Given the description of an element on the screen output the (x, y) to click on. 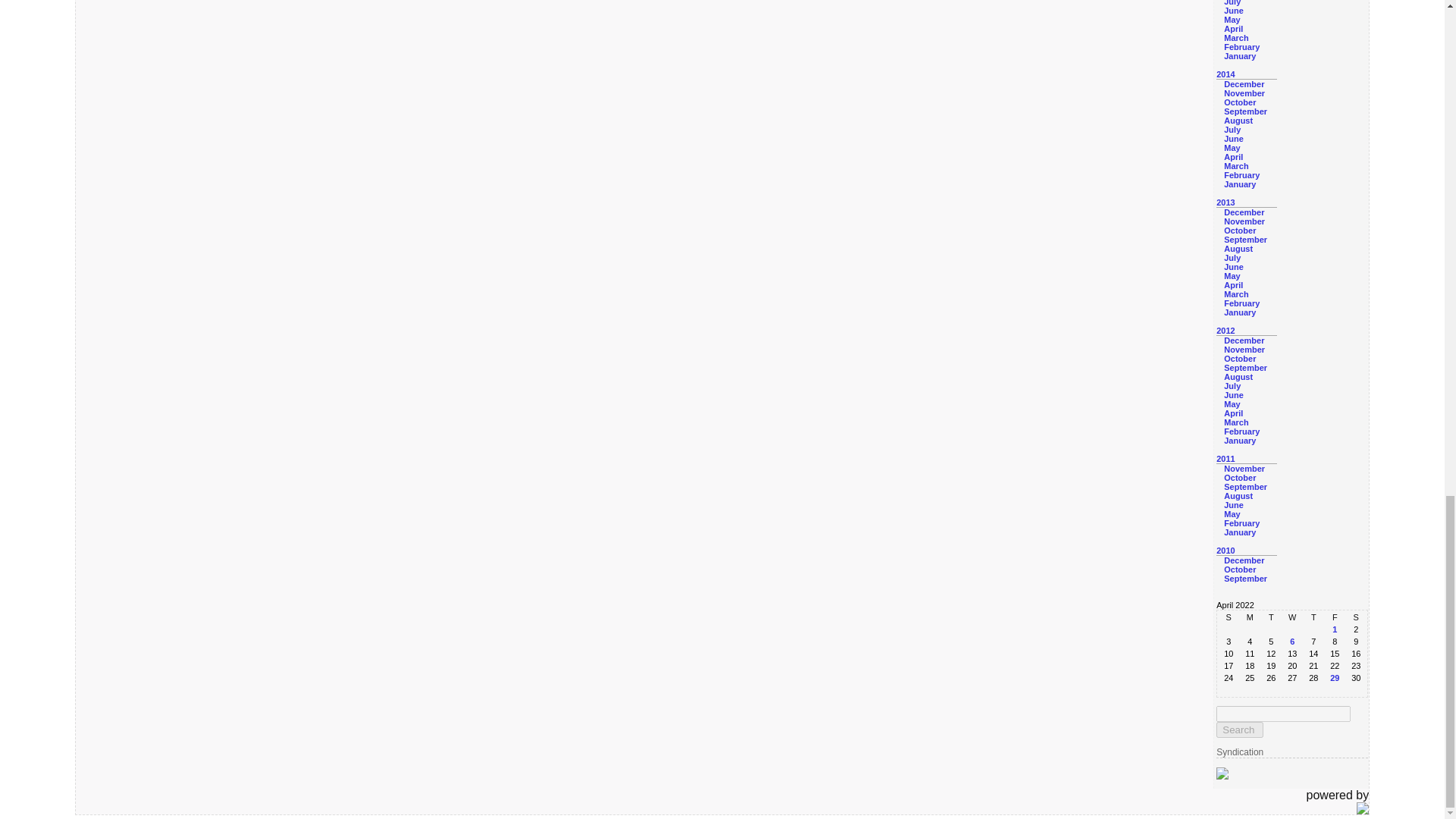
Thursday (1313, 616)
Sunday (1228, 616)
Saturday (1355, 616)
Wednesday (1291, 616)
Search  (1239, 729)
Monday (1249, 616)
Friday (1333, 616)
Tuesday (1270, 616)
